Given the description of an element on the screen output the (x, y) to click on. 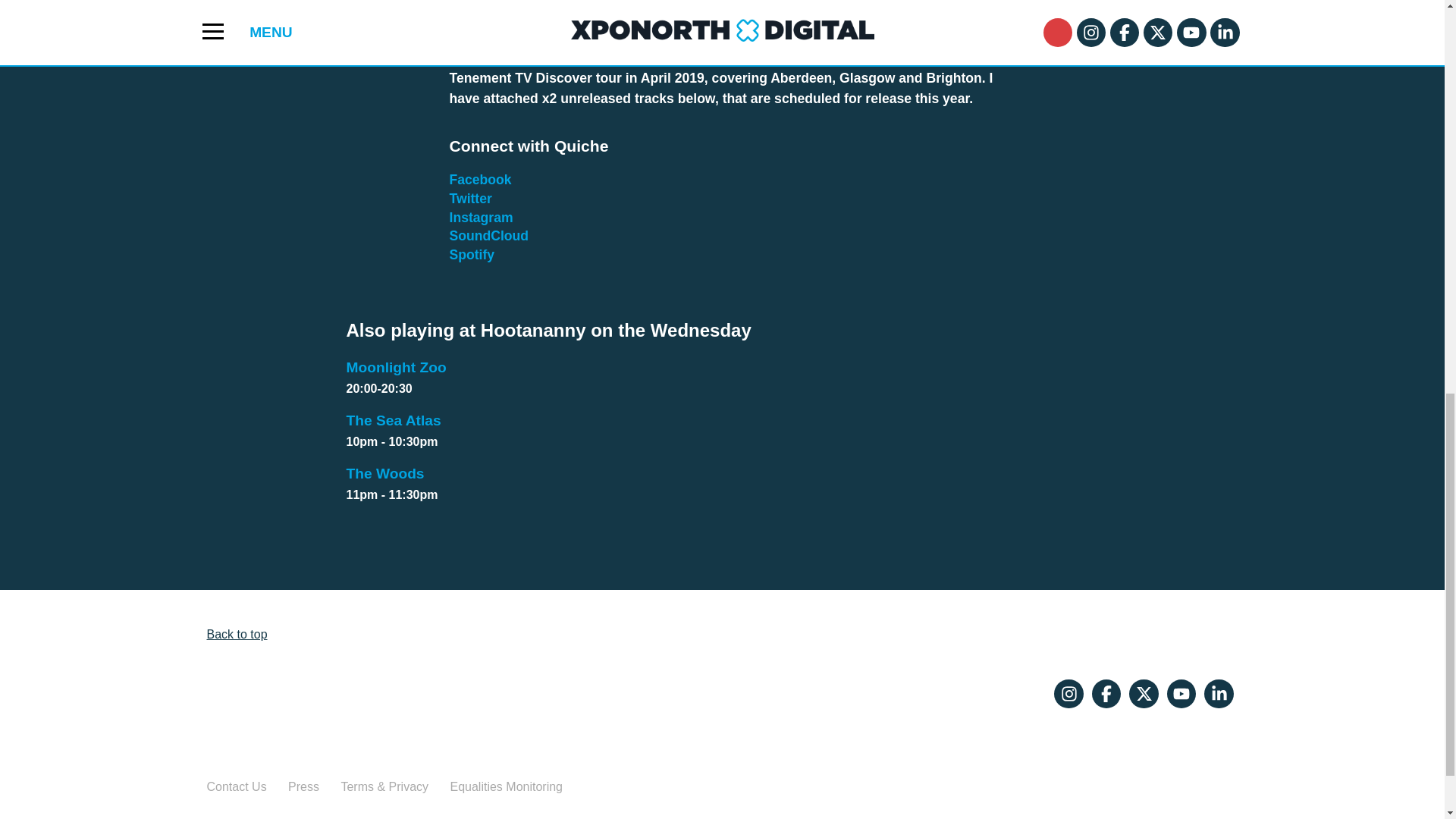
Home (721, 431)
The Woods (357, 717)
Twitter (721, 484)
Spotify (470, 198)
Spotify (471, 254)
Moonlight Zoo (471, 254)
Twitter (721, 377)
The Sea Atlas (470, 198)
